Given the description of an element on the screen output the (x, y) to click on. 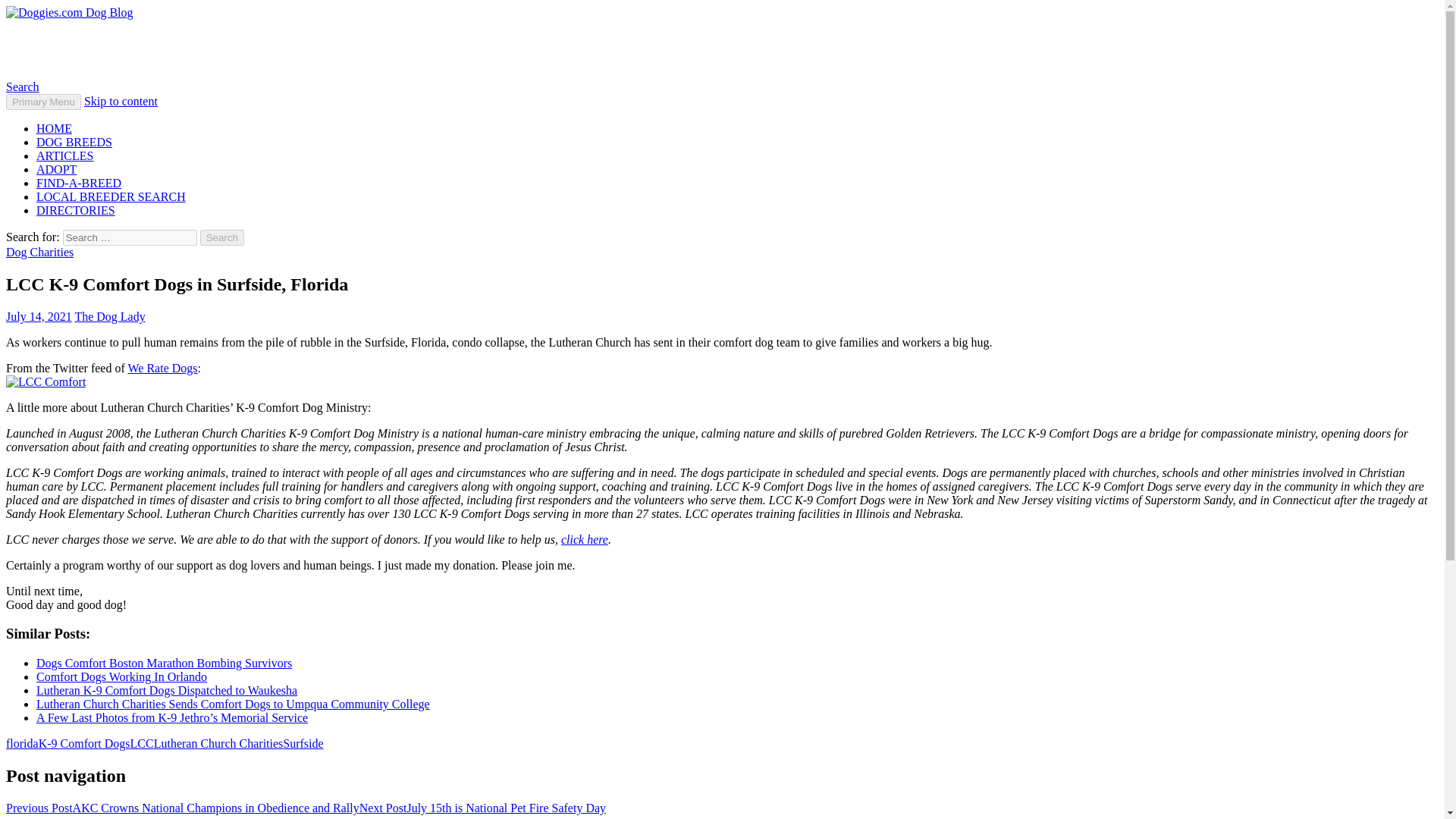
We Rate Dogs (162, 367)
Surfside (302, 743)
Dogs Comfort Boston Marathon Bombing Survivors (164, 662)
click here (584, 539)
Comfort Dogs Working In Orlando (121, 676)
Lutheran K-9 Comfort Dogs Dispatched to Waukesha (166, 689)
FIND-A-BREED (78, 182)
Next PostJuly 15th is National Pet Fire Safety Day (482, 807)
ARTICLES (64, 155)
Comfort Dogs Working In Orlando (121, 676)
LOCAL BREEDER SEARCH (111, 196)
Dog Charities (39, 251)
